Given the description of an element on the screen output the (x, y) to click on. 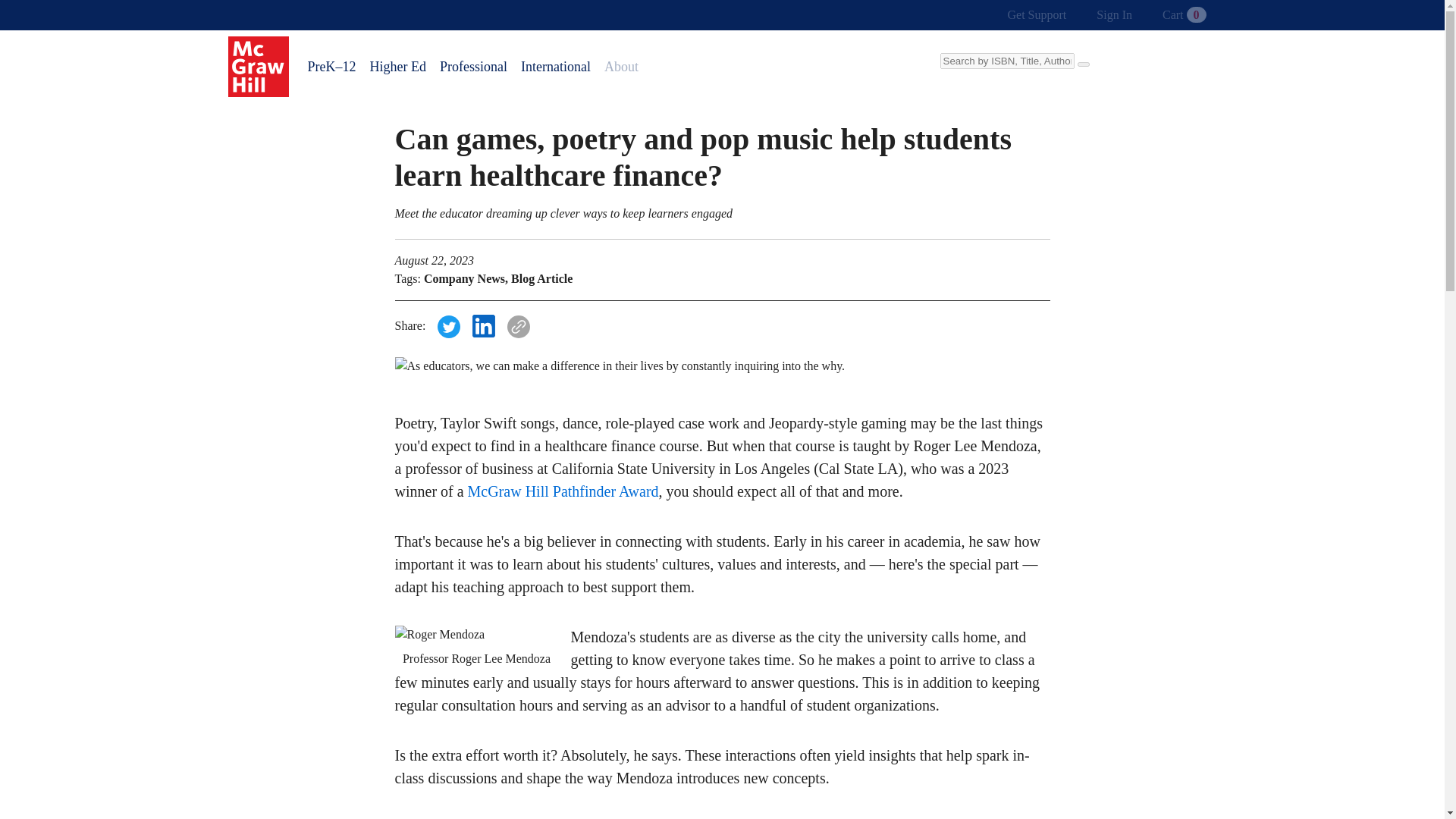
Get Support (1037, 15)
Share this article on LinkedIn (483, 326)
Copy URL of this article (517, 326)
Higher Ed (397, 66)
Share this article on Twitter (449, 326)
Cart 0 (1182, 15)
International (554, 66)
About (623, 66)
Professional (472, 66)
Sign In (1112, 15)
